Given the description of an element on the screen output the (x, y) to click on. 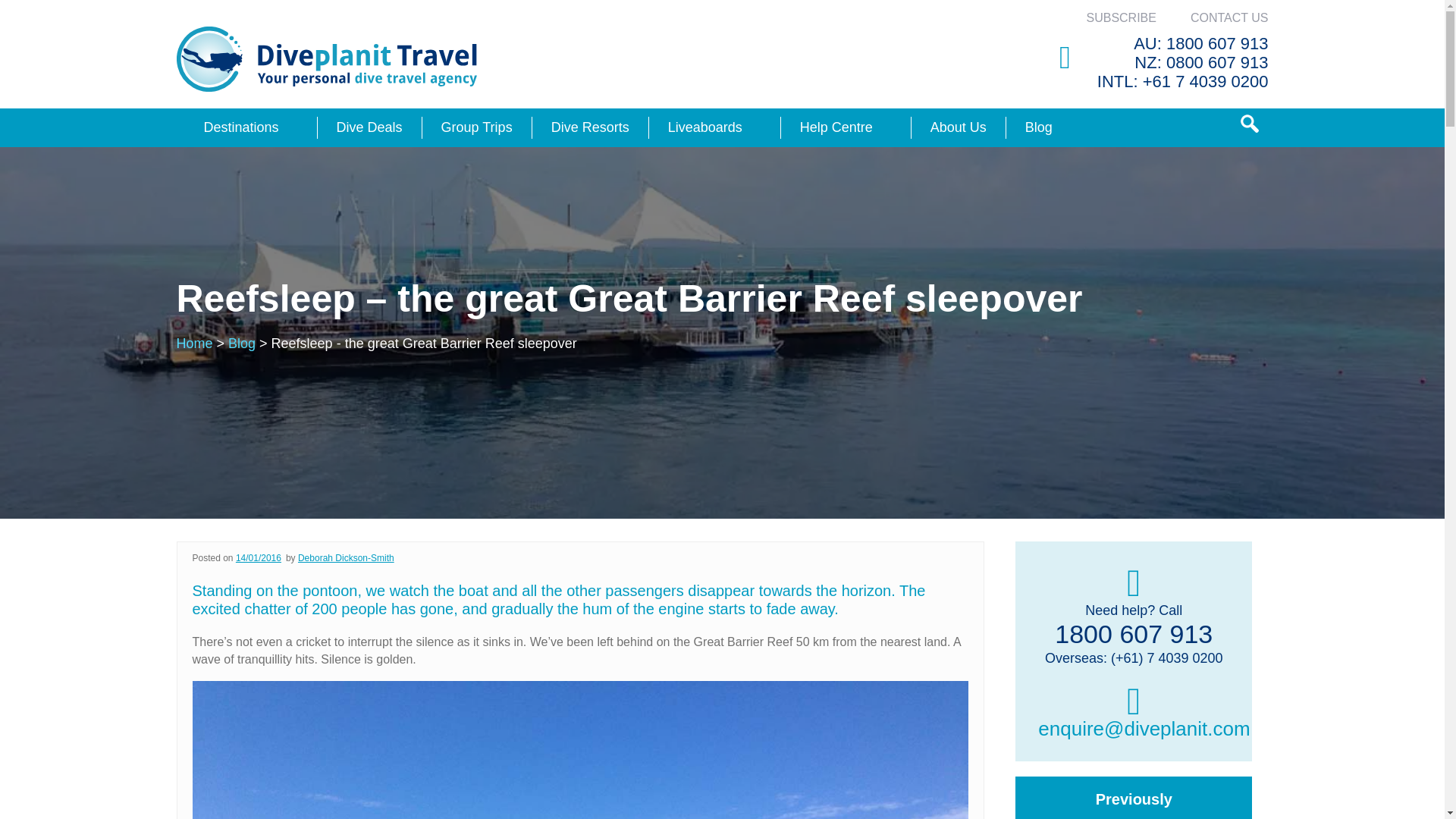
CONTACT US (1229, 17)
Search (1249, 124)
Destinations (240, 127)
AU: 1800 607 913 (1201, 43)
NZ: 0800 607 913 (1201, 62)
SUBSCRIBE (1121, 17)
Diving Destinations (240, 127)
